Given the description of an element on the screen output the (x, y) to click on. 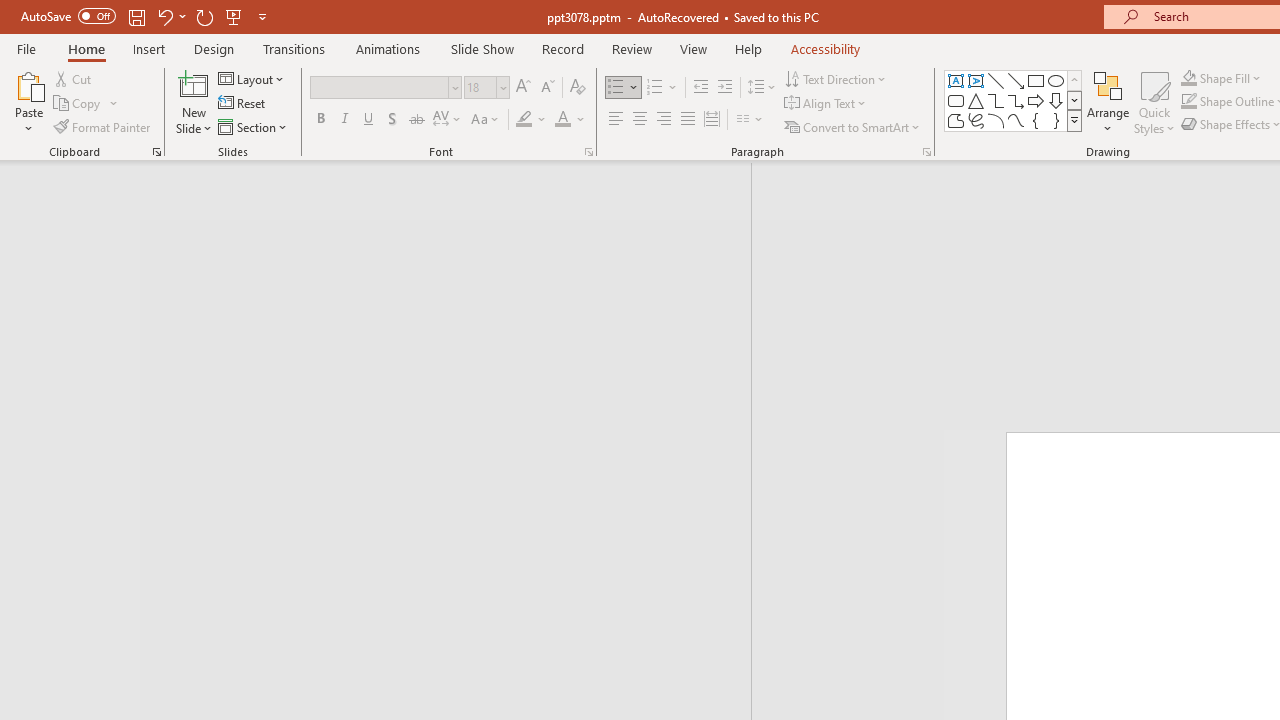
Bullets (616, 87)
Font... (588, 151)
Outline (384, 215)
Arrow: Down (1055, 100)
Vertical Text Box (975, 80)
Character Spacing (447, 119)
Font Size (480, 87)
Copy (85, 103)
Text Box (955, 80)
Accessibility (825, 48)
Oval (1055, 80)
Layout (252, 78)
